Given the description of an element on the screen output the (x, y) to click on. 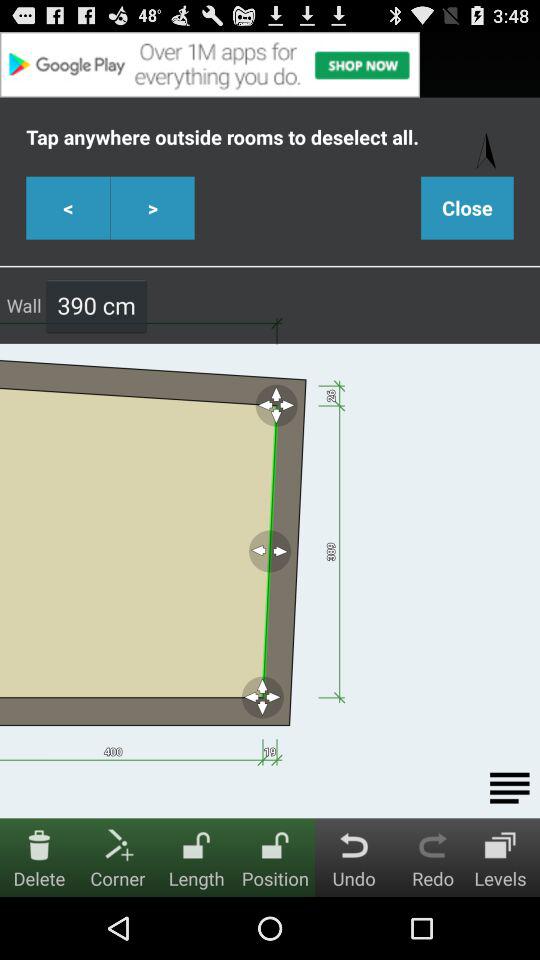
advatisment (270, 64)
